Given the description of an element on the screen output the (x, y) to click on. 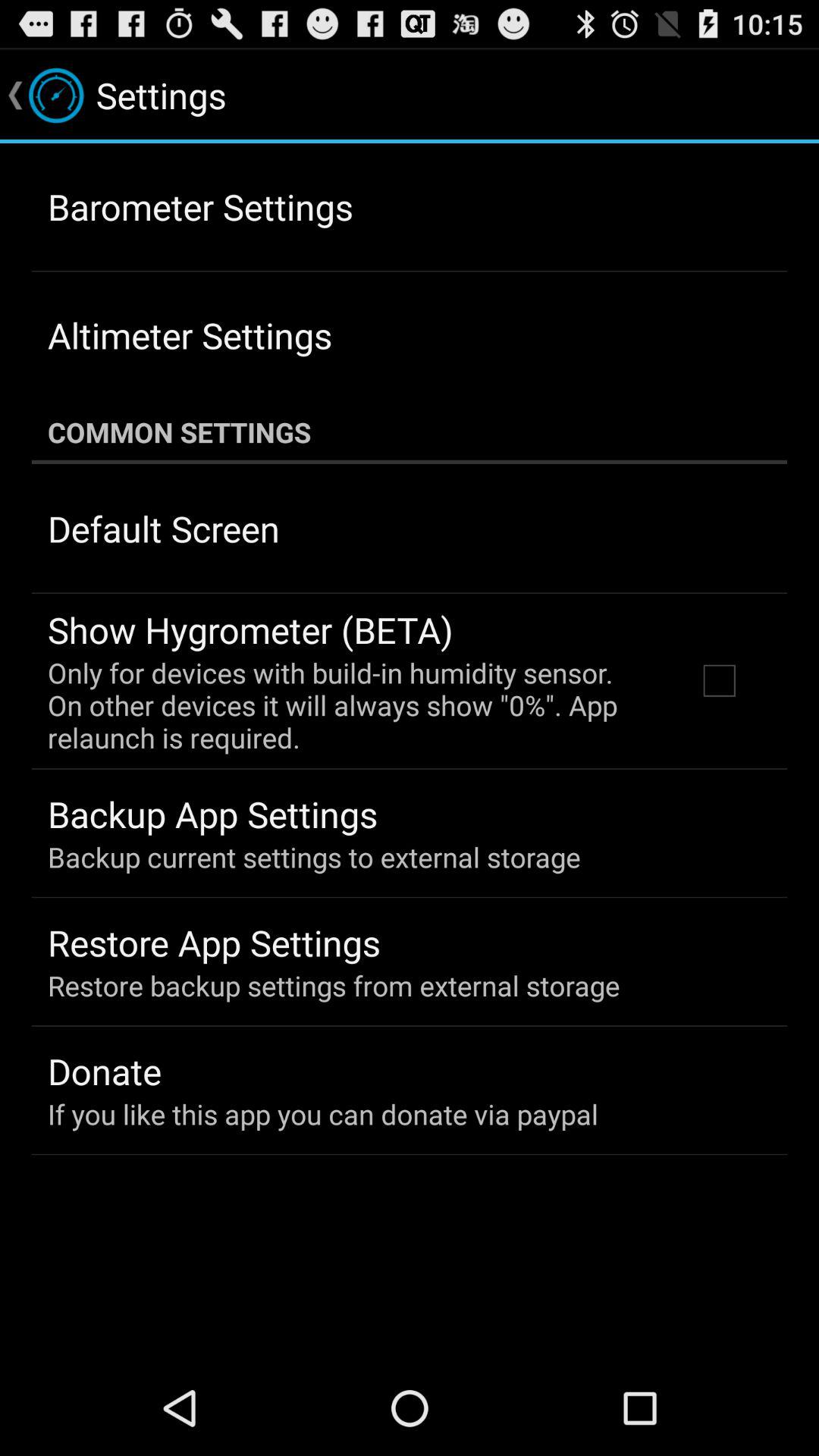
click the item above the altimeter settings icon (200, 206)
